Given the description of an element on the screen output the (x, y) to click on. 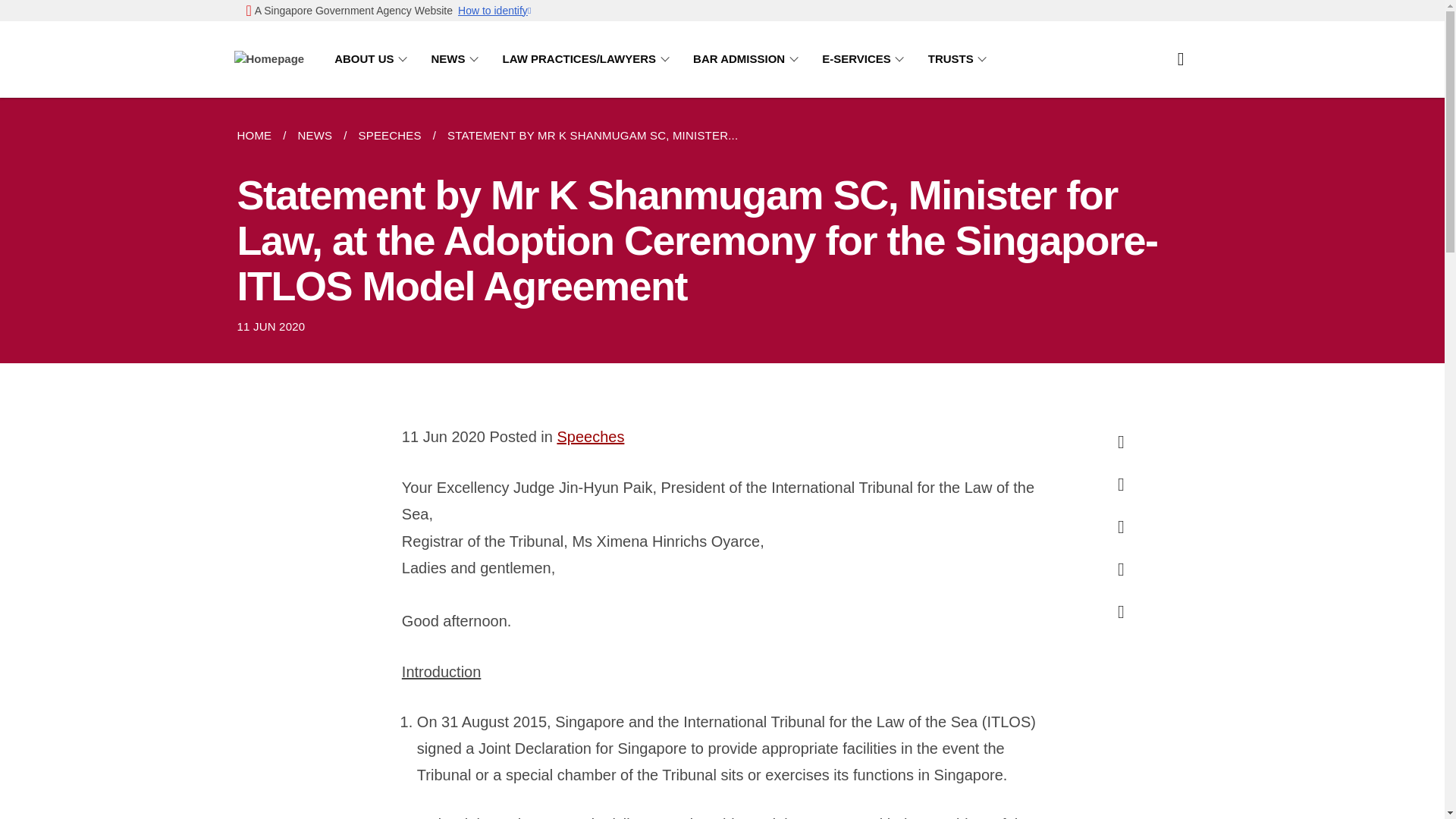
BAR ADMISSION (748, 59)
E-SERVICES (866, 59)
ABOUT US (373, 59)
